Given the description of an element on the screen output the (x, y) to click on. 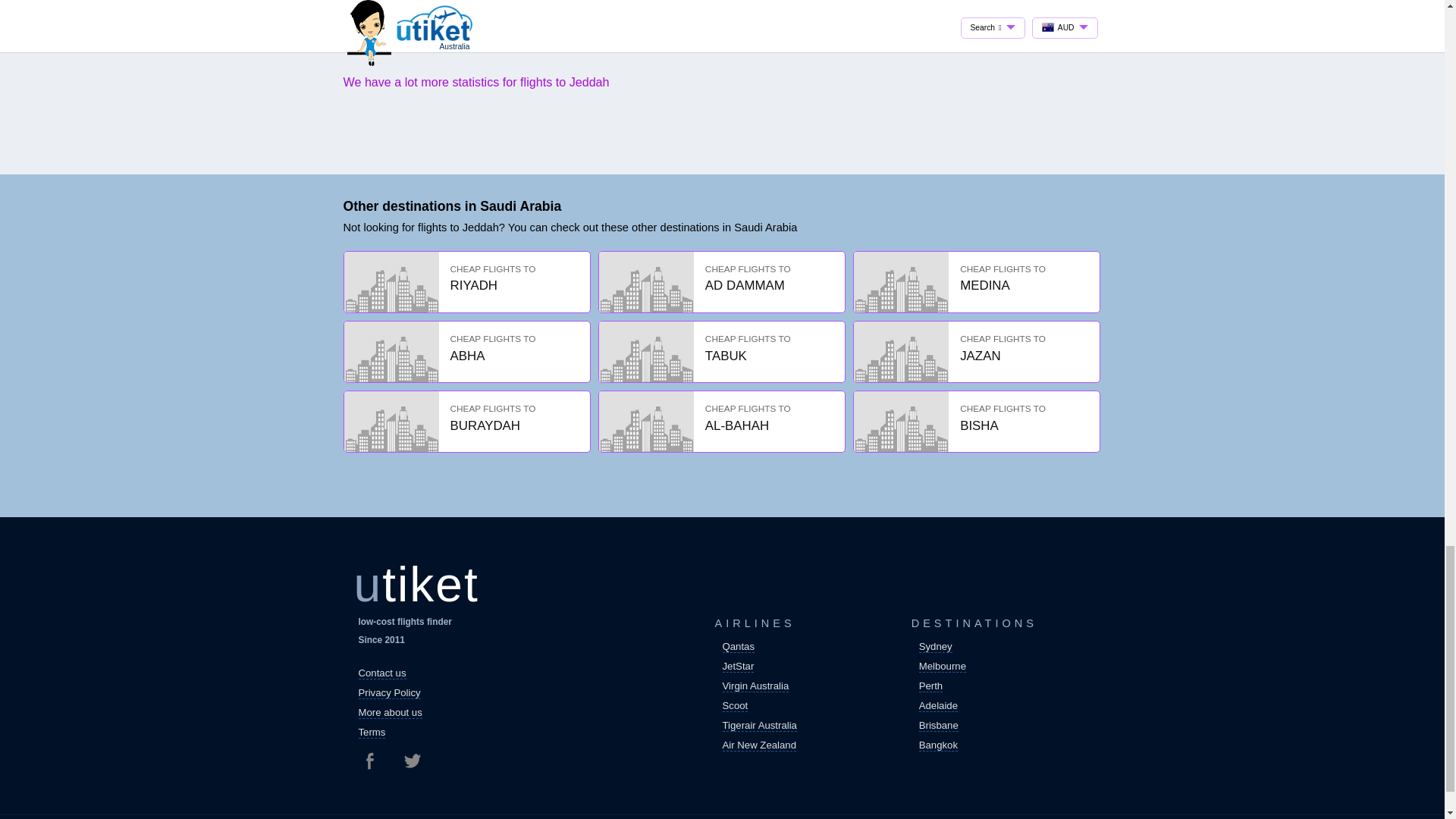
Utiket on Facebook (374, 760)
Utiket on Twitter (411, 760)
